Given the description of an element on the screen output the (x, y) to click on. 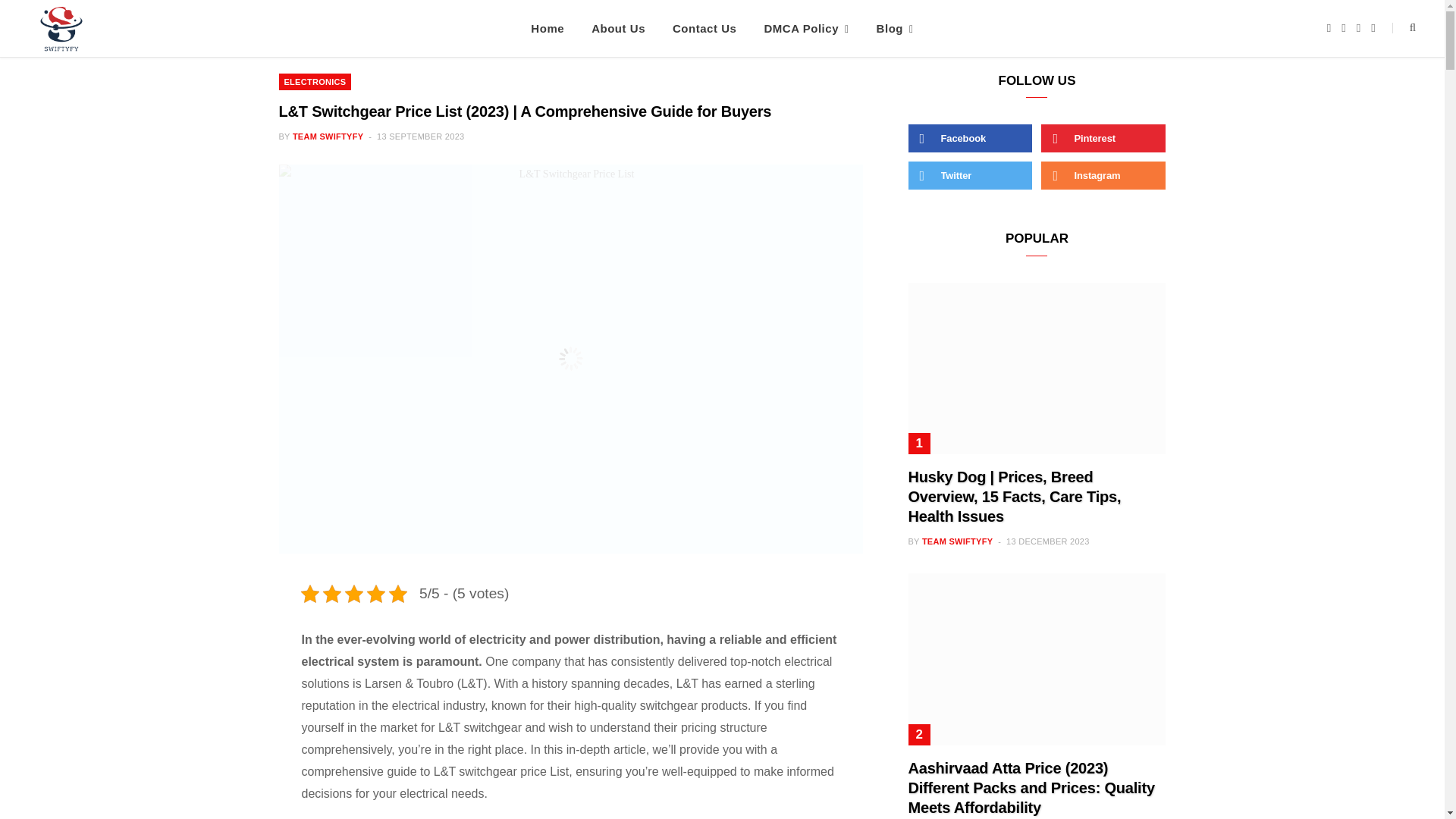
13 SEPTEMBER 2023 (420, 135)
SwiftyFy (63, 31)
Posts by Team SwiftyFy (327, 135)
About Us (618, 28)
Search (1403, 28)
ELECTRONICS (315, 81)
Instagram (1357, 28)
Contact Us (704, 28)
Pinterest (1372, 28)
Twitter (1342, 28)
TEAM SWIFTYFY (327, 135)
Blog (895, 28)
DMCA Policy (805, 28)
Home (547, 28)
Facebook (1328, 28)
